Given the description of an element on the screen output the (x, y) to click on. 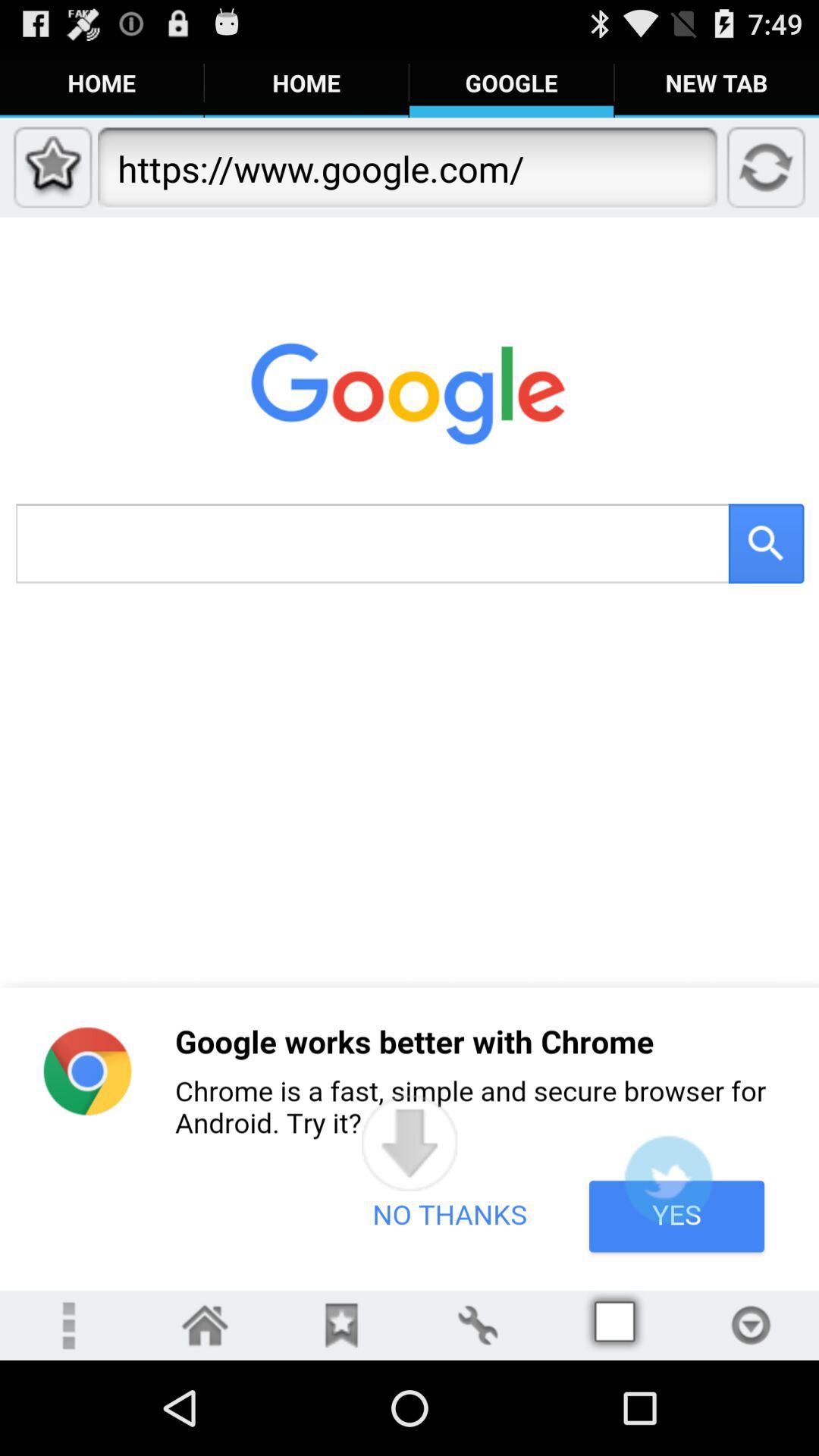
install plugin (668, 1179)
